Given the description of an element on the screen output the (x, y) to click on. 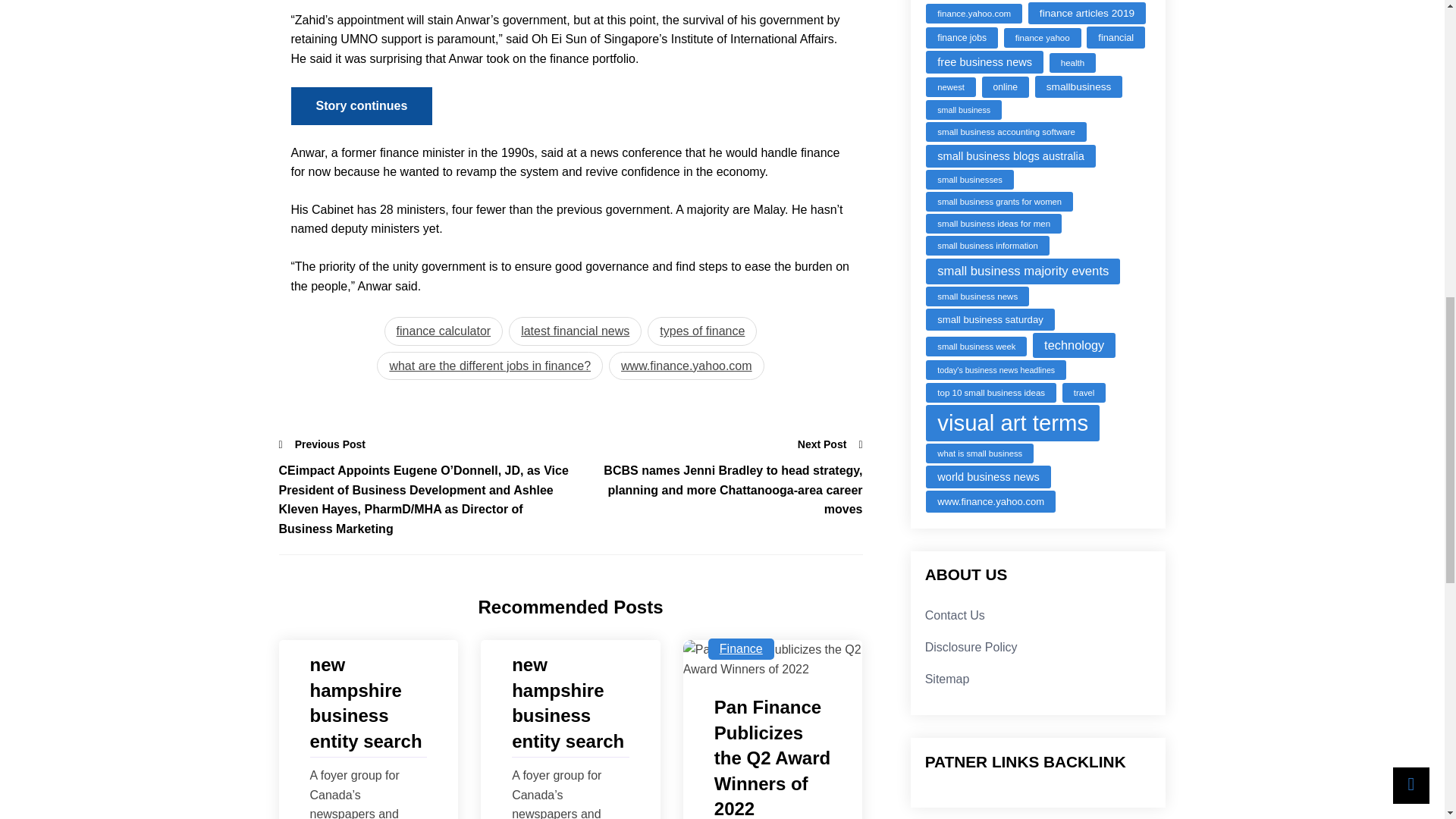
Next Post (830, 443)
www.finance.yahoo.com (686, 366)
Pan Finance Publicizes the Q2 Award Winners of 2022 (772, 756)
what are the different jobs in finance? (489, 366)
Story continues (361, 105)
Previous Post (322, 443)
finance calculator (443, 330)
types of finance (702, 330)
Pan Finance Publicizes the Q2 Award Winners of 2022 (772, 658)
